Given the description of an element on the screen output the (x, y) to click on. 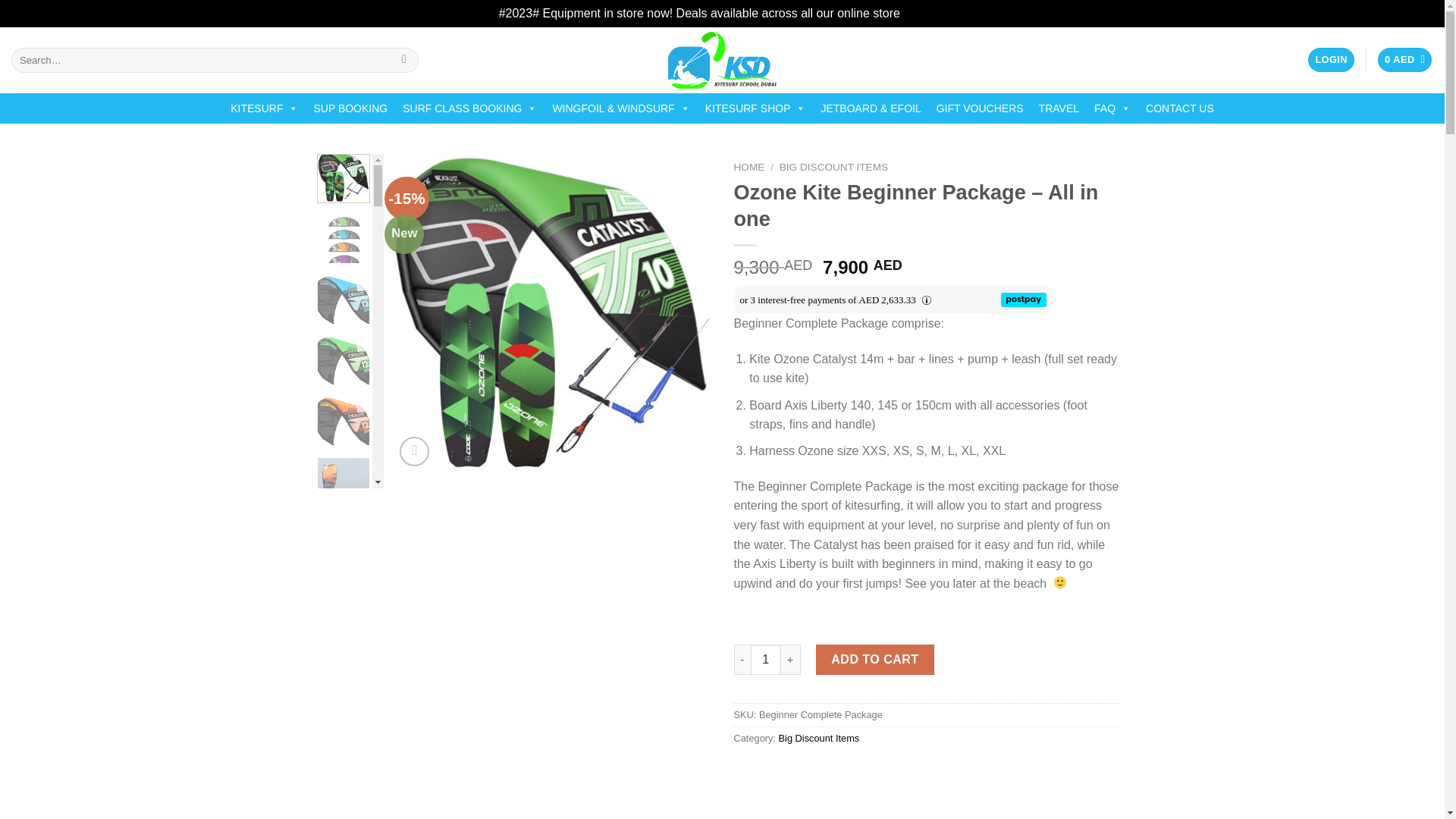
Cart (1404, 59)
SUP BOOKING (349, 108)
Search (403, 59)
LOGIN (1330, 59)
Zoom (413, 451)
1 (765, 659)
SURF CLASS BOOKING (469, 108)
0 AED (1404, 59)
KITESURF (263, 108)
Dismiss (923, 12)
KITESURF SHOP (755, 108)
Kitesurf School Dubai - KSD (722, 60)
- (742, 659)
